Given the description of an element on the screen output the (x, y) to click on. 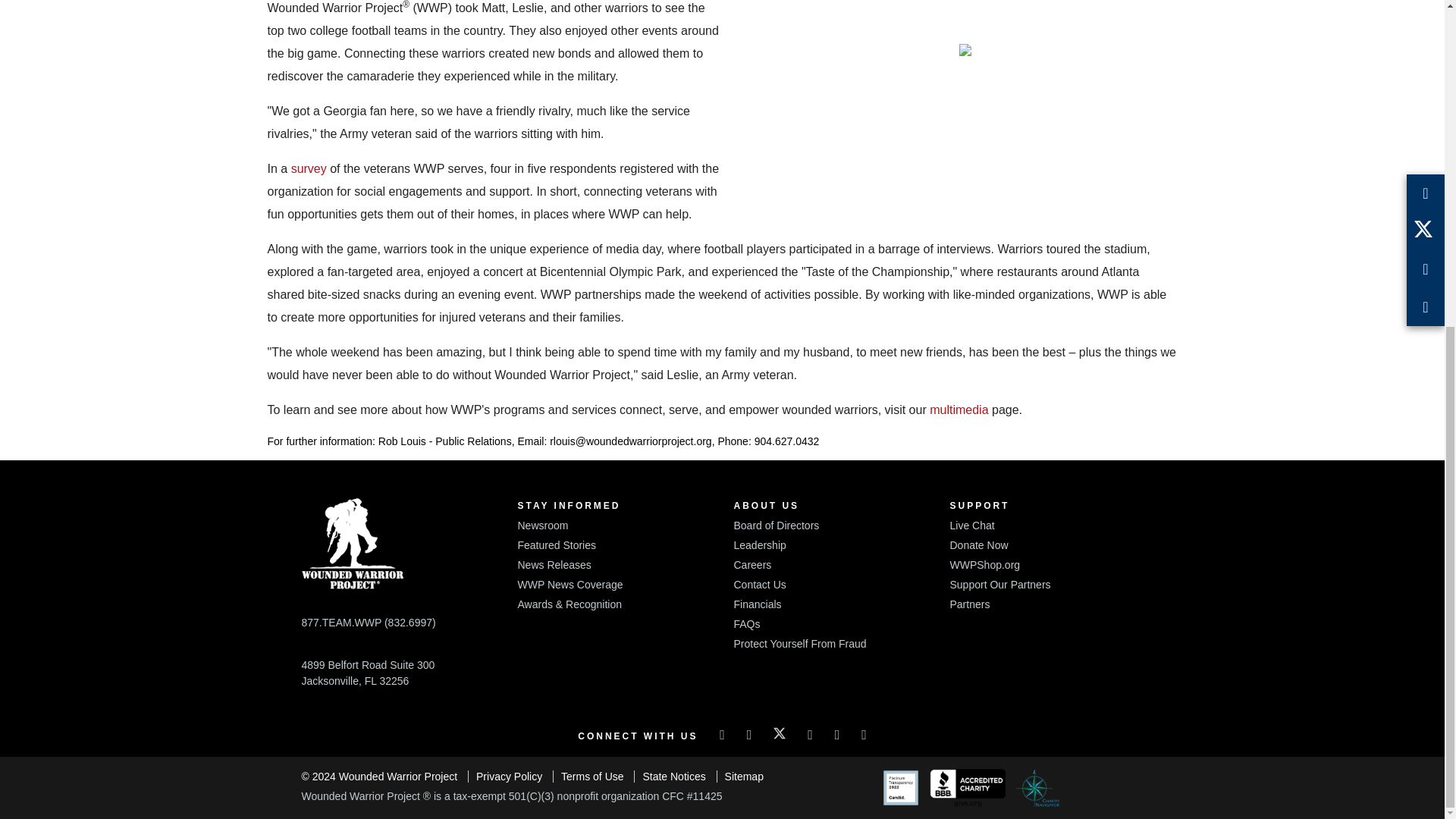
Leadership (759, 544)
Careers (752, 564)
Contact Us (759, 584)
Board of Directors (776, 525)
